Given the description of an element on the screen output the (x, y) to click on. 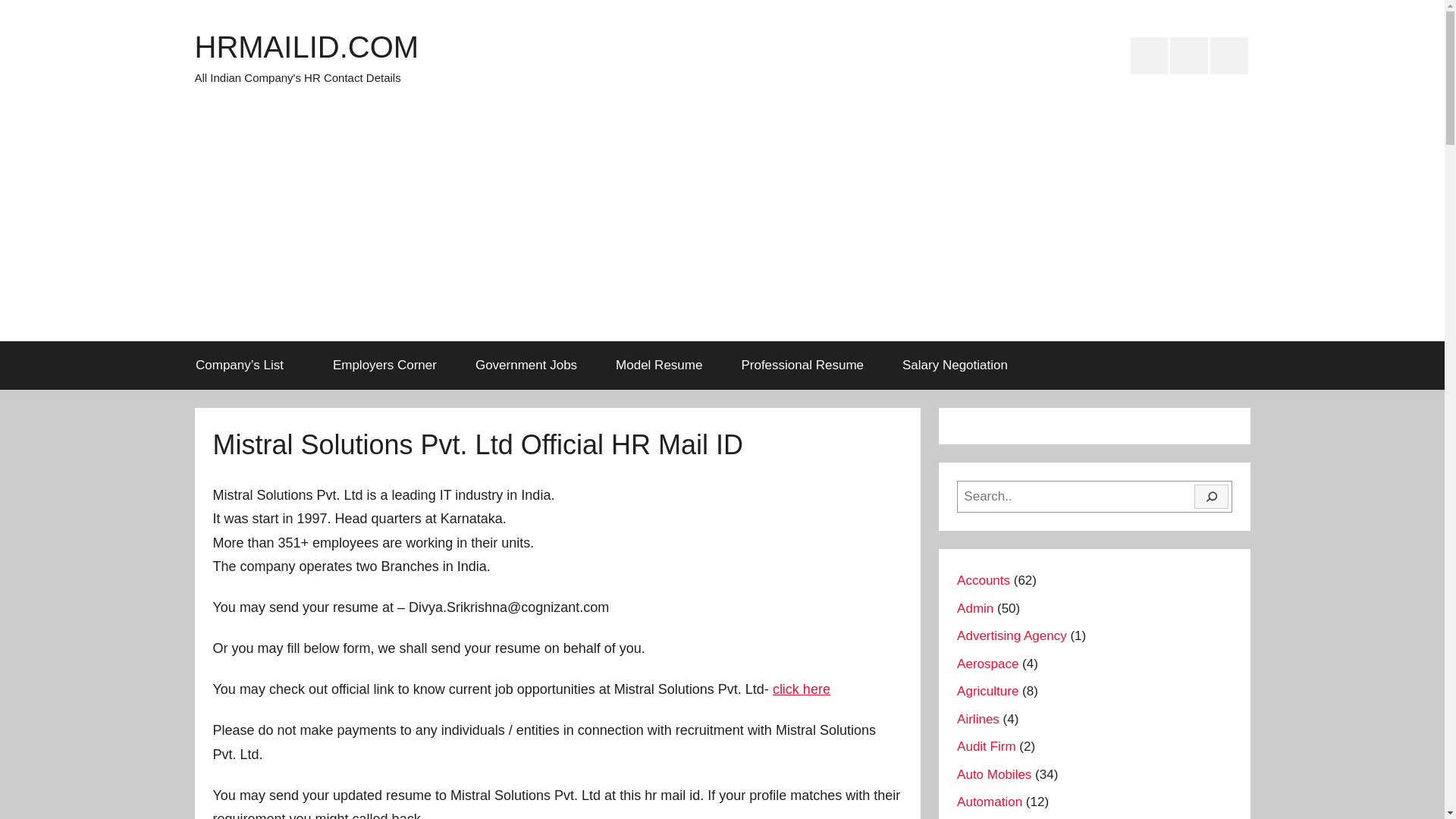
Model Resume (659, 365)
Employers Corner (384, 365)
HRMAILID.COM (306, 46)
WhatsApp (1228, 55)
Salary Negotiation (954, 365)
click here (801, 688)
Government Jobs (525, 365)
Professional Resume (802, 365)
Telegram (1189, 55)
Facebook (1150, 55)
